Given the description of an element on the screen output the (x, y) to click on. 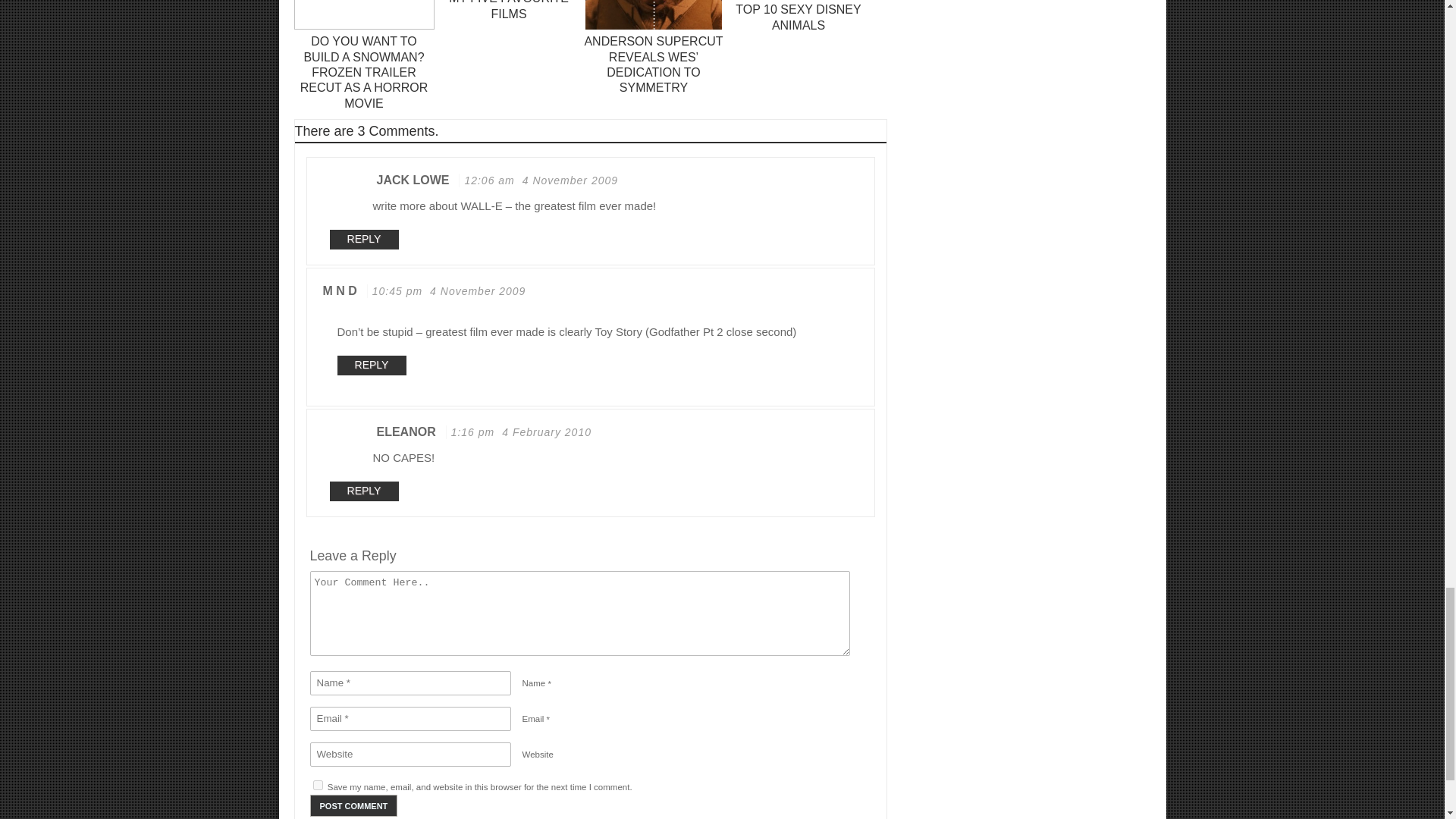
My five favourite films (508, 9)
Top 10 sexy Disney animals (797, 17)
Post Comment (352, 805)
yes (317, 785)
